Given the description of an element on the screen output the (x, y) to click on. 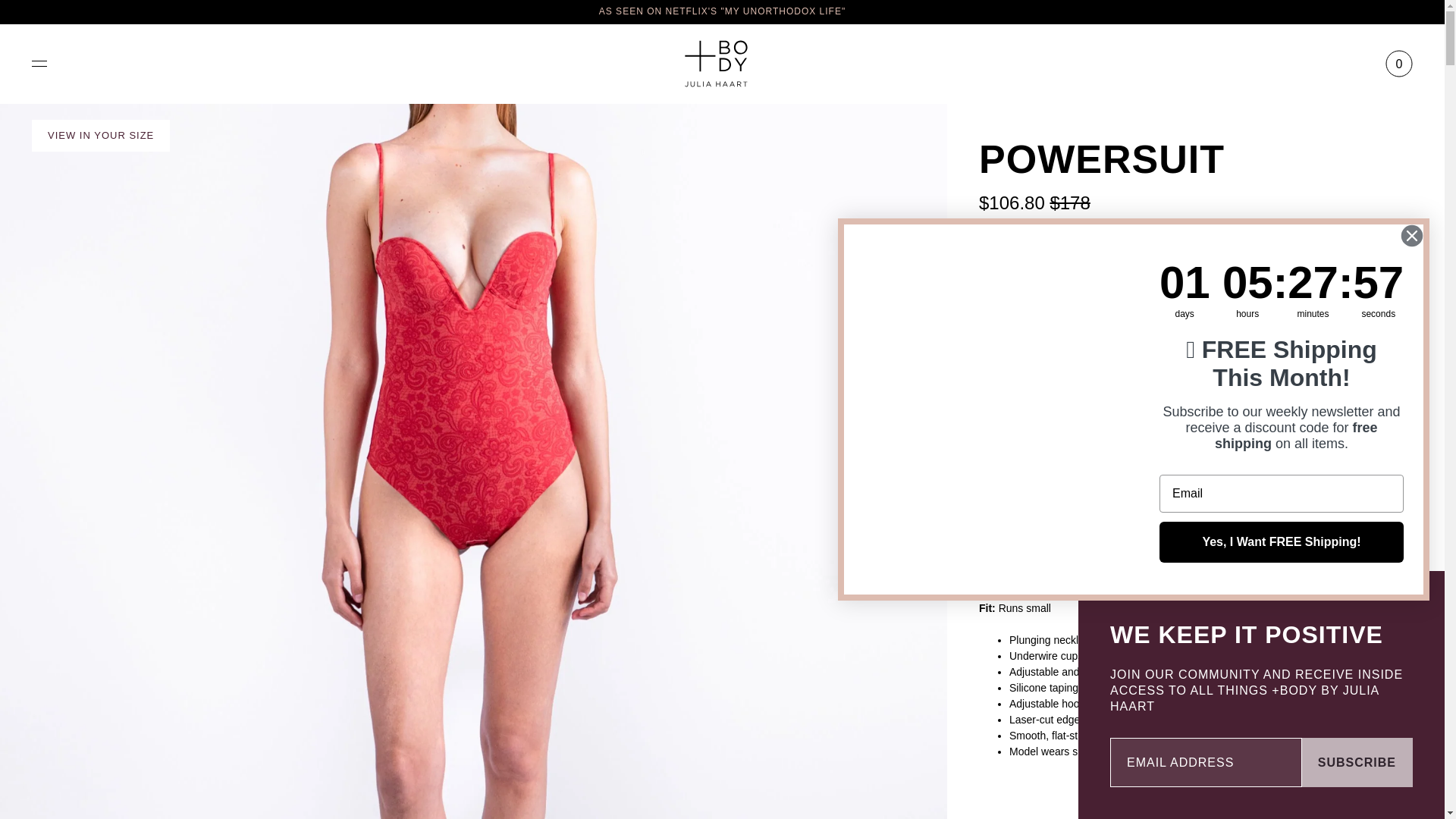
Yes, I Want FREE Shipping! (1280, 541)
AS SEEN ON NETFLIX'S "MY UNORTHODOX LIFE" (721, 10)
Close dialog 1 (1411, 235)
SIZE GUIDE (1374, 309)
Netflix (721, 10)
Submit (24, 9)
Close dialog 1 (1411, 235)
0 (1399, 63)
SUBSCRIBE (1356, 762)
